Given the description of an element on the screen output the (x, y) to click on. 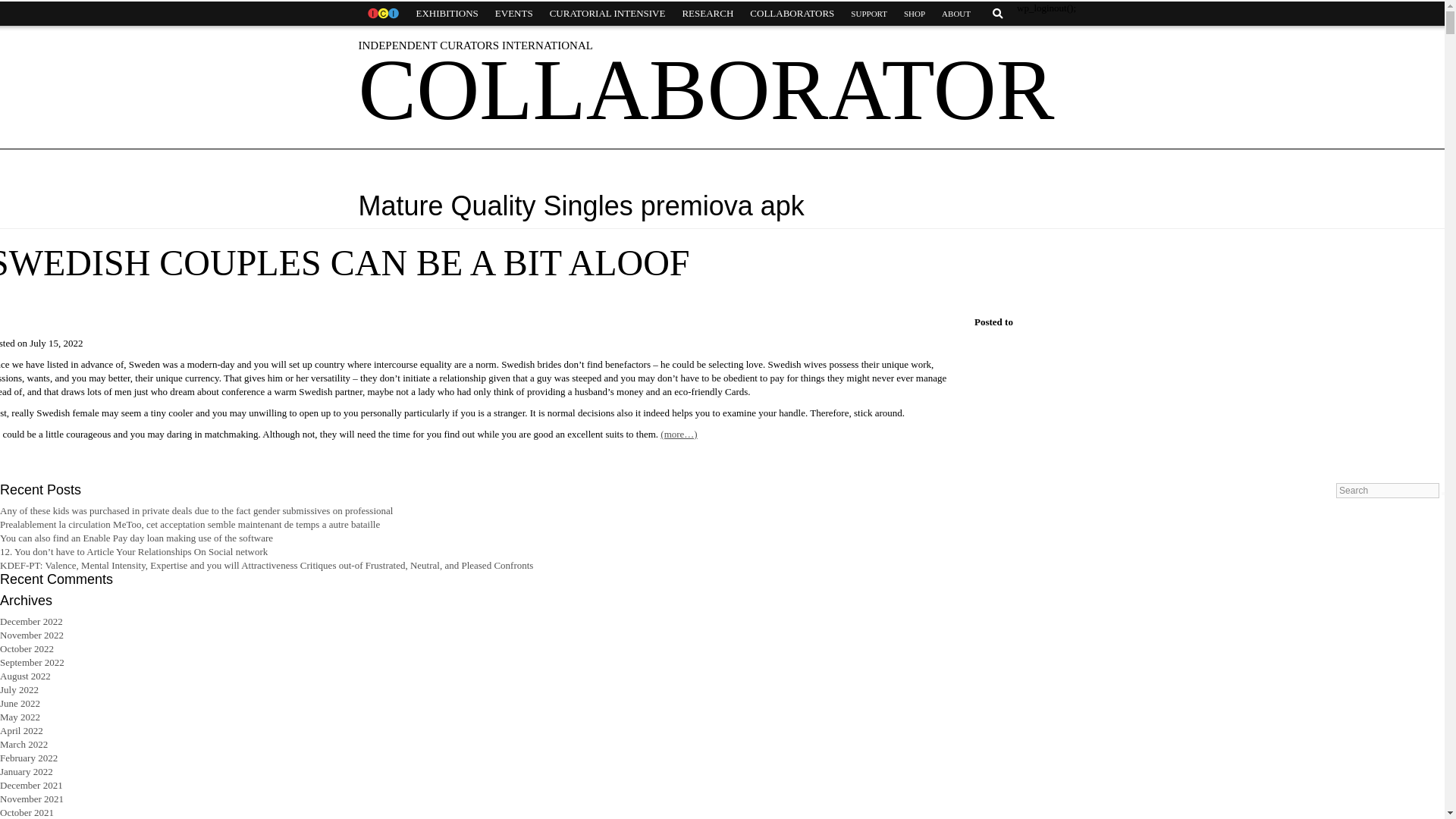
EXHIBITIONS (446, 13)
CURATORIAL INTENSIVE (607, 13)
COLLABORATORS (792, 13)
HOME (382, 13)
RESEARCH (706, 13)
EVENTS (513, 13)
